Given the description of an element on the screen output the (x, y) to click on. 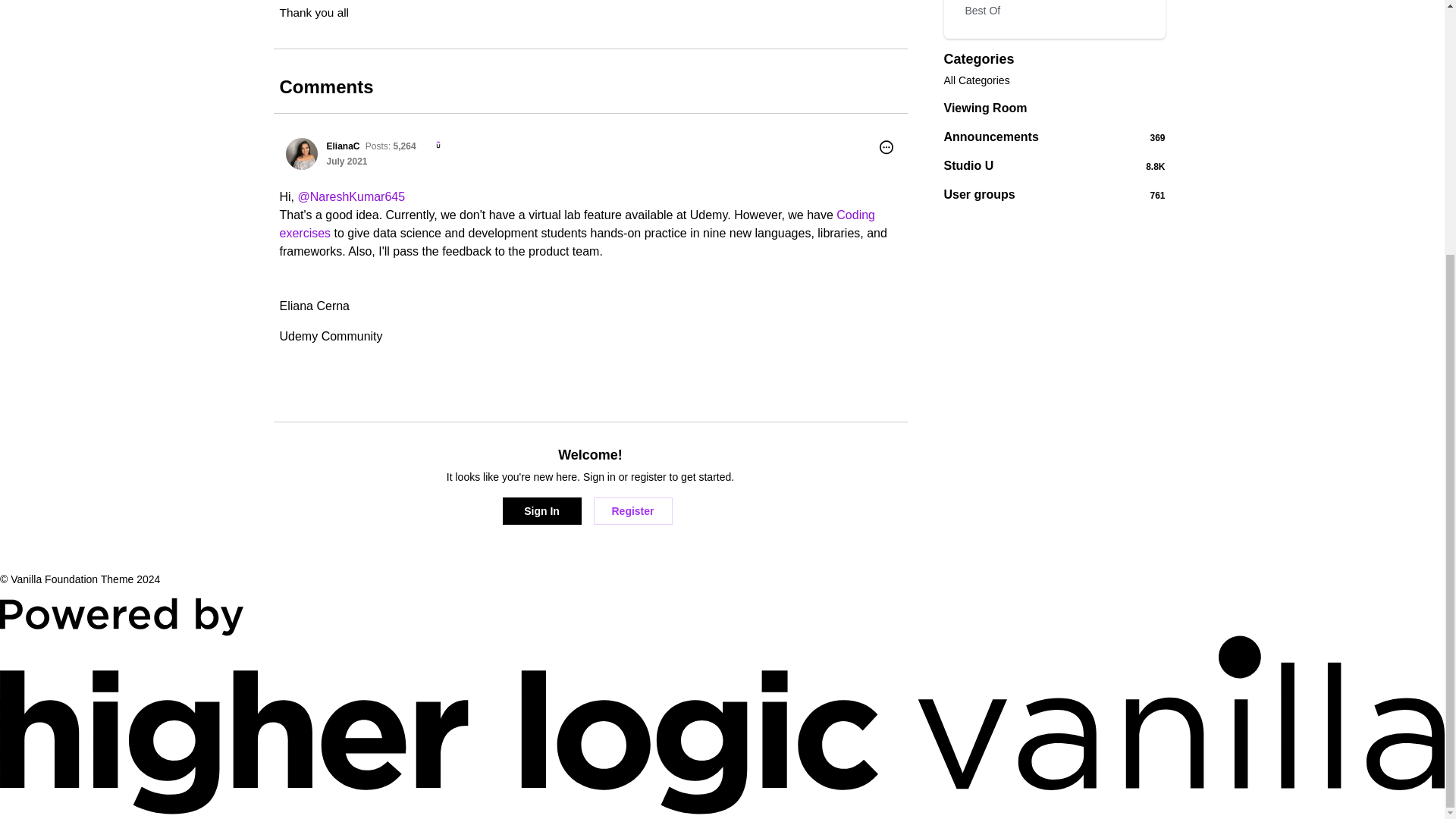
369 discussions (1157, 137)
Sign In (541, 510)
8,783 discussions (1154, 166)
ElianaC (342, 145)
July 2021 (346, 161)
Register (631, 510)
ElianaC (301, 153)
All Categories (1053, 165)
July 16, 2021 2:36PM (1053, 80)
761 discussions (346, 161)
Viewing Room (1157, 195)
Best Of (1053, 108)
Sign In (1053, 194)
